Given the description of an element on the screen output the (x, y) to click on. 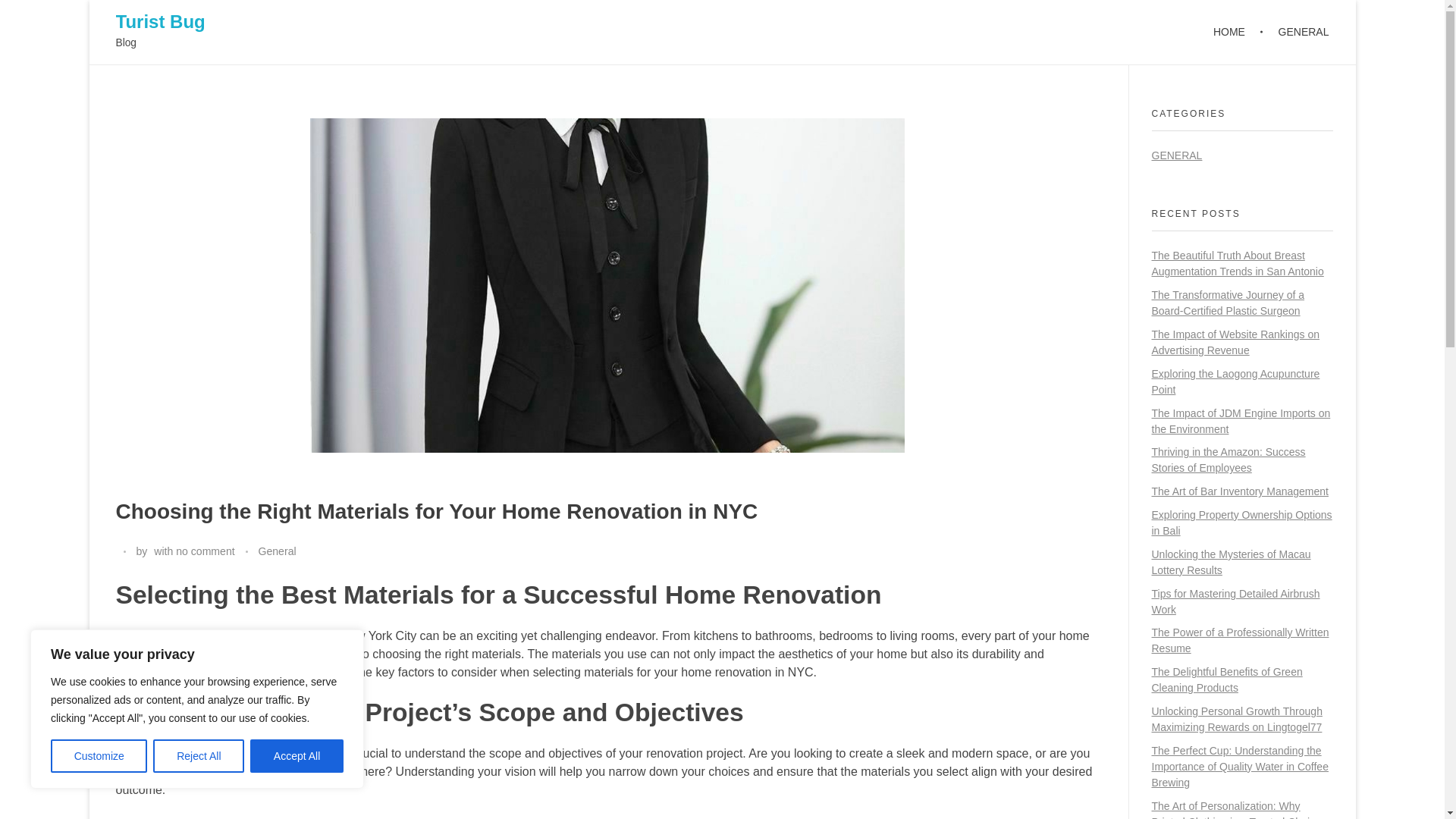
The Impact of JDM Engine Imports on the Environment (1240, 420)
Exploring Property Ownership Options in Bali (1241, 522)
GENERAL (1295, 32)
Reject All (198, 756)
The Art of Bar Inventory Management (1239, 491)
View all posts in General (276, 551)
Thriving in the Amazon: Success Stories of Employees (1227, 459)
Customize (98, 756)
General (276, 551)
